Given the description of an element on the screen output the (x, y) to click on. 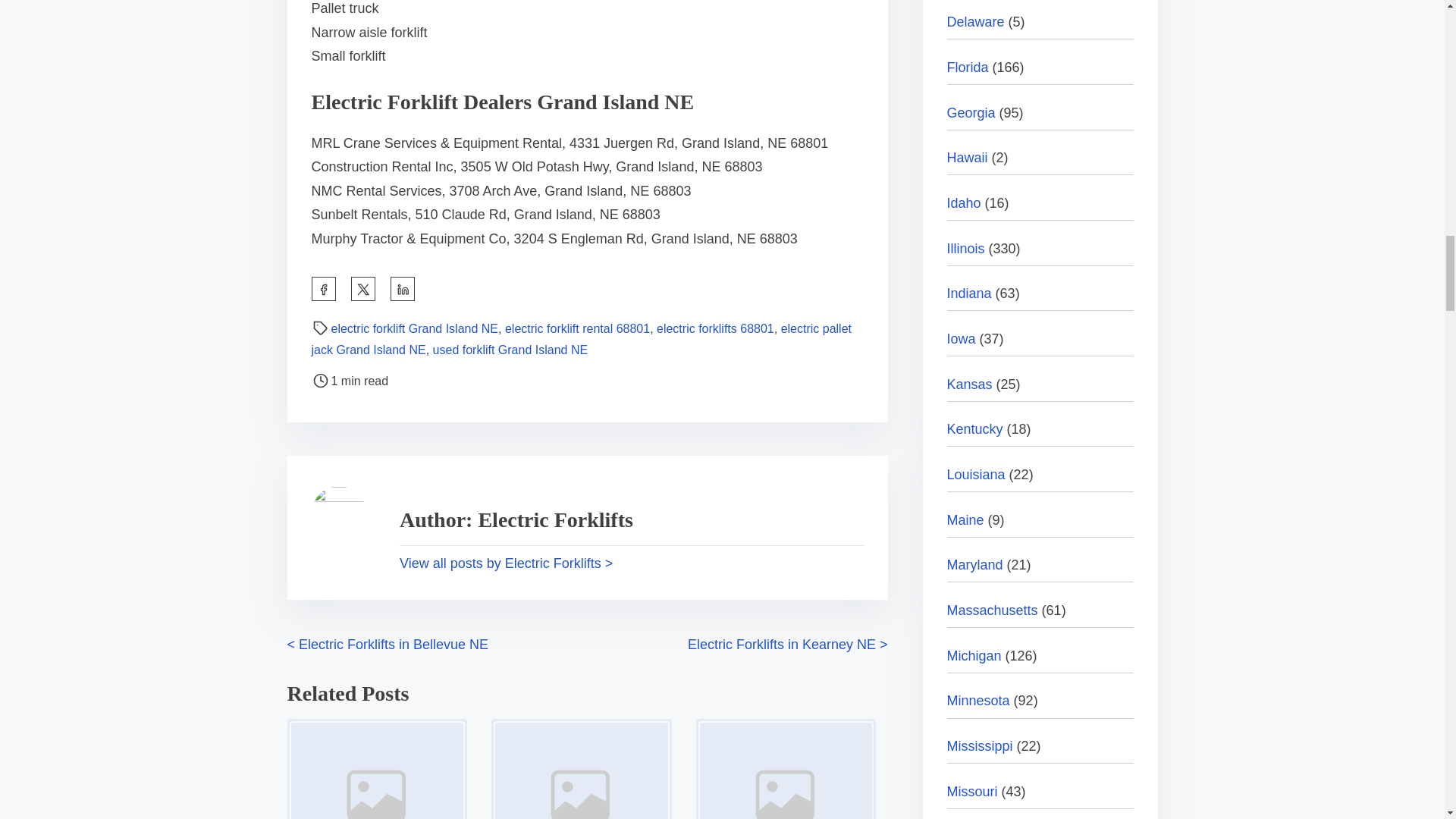
electric pallet jack Grand Island NE (581, 339)
used forklift Grand Island NE (510, 349)
Share this post on Twitter (362, 288)
electric forklifts 68801 (715, 328)
electric forklift rental 68801 (577, 328)
Share this post on Facebook (322, 288)
electric forklift Grand Island NE (413, 328)
Share this post on Linkedin (402, 288)
Image Placeholder (376, 769)
